Given the description of an element on the screen output the (x, y) to click on. 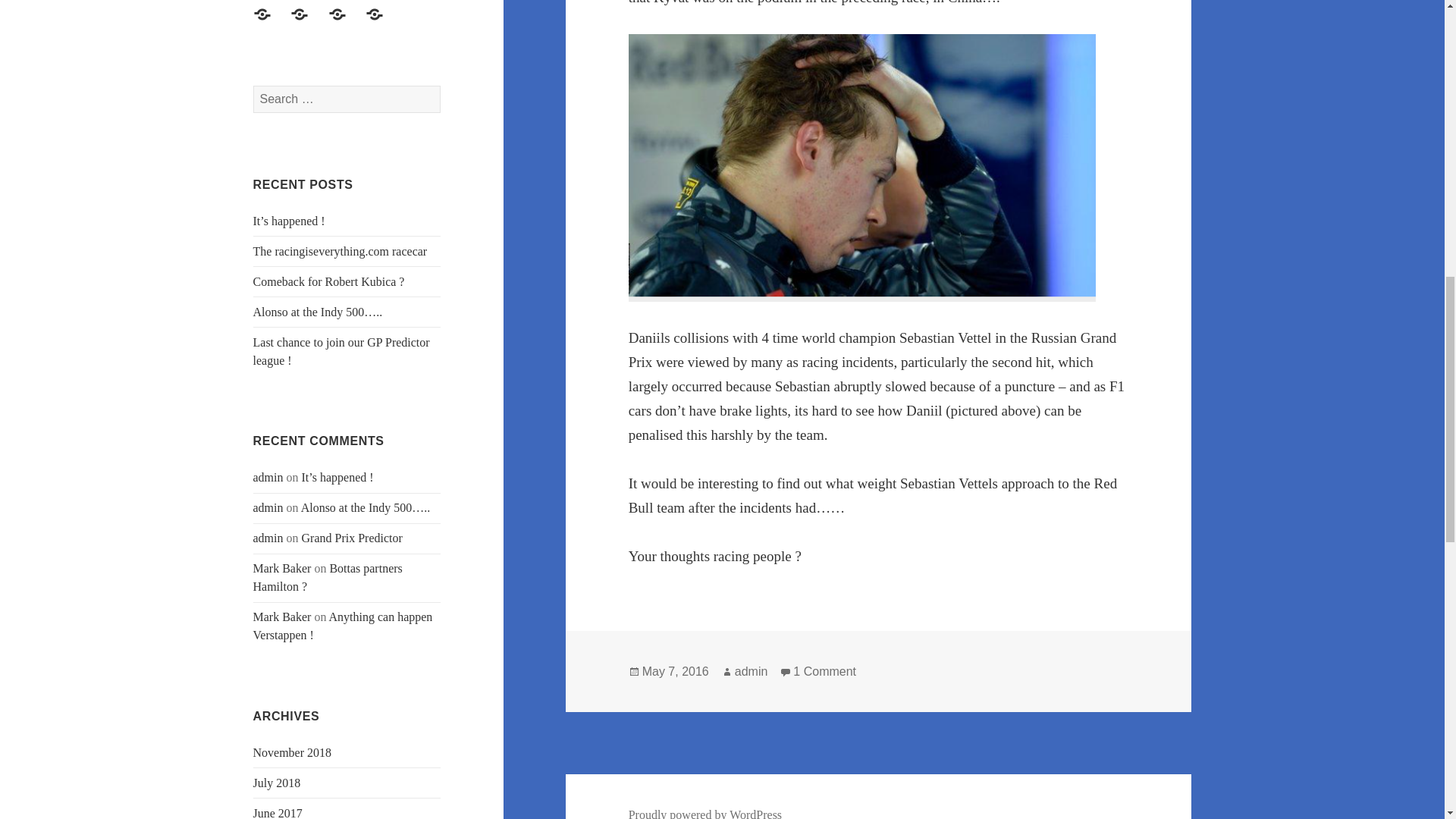
Last chance to join our GP Predictor league ! (341, 350)
Fan apparel (307, 22)
Pit Equipment (347, 2)
admin (268, 507)
Racing models (271, 22)
Racewear (271, 2)
Helmets (307, 2)
admin (268, 477)
Privacy Policy (383, 22)
